Given the description of an element on the screen output the (x, y) to click on. 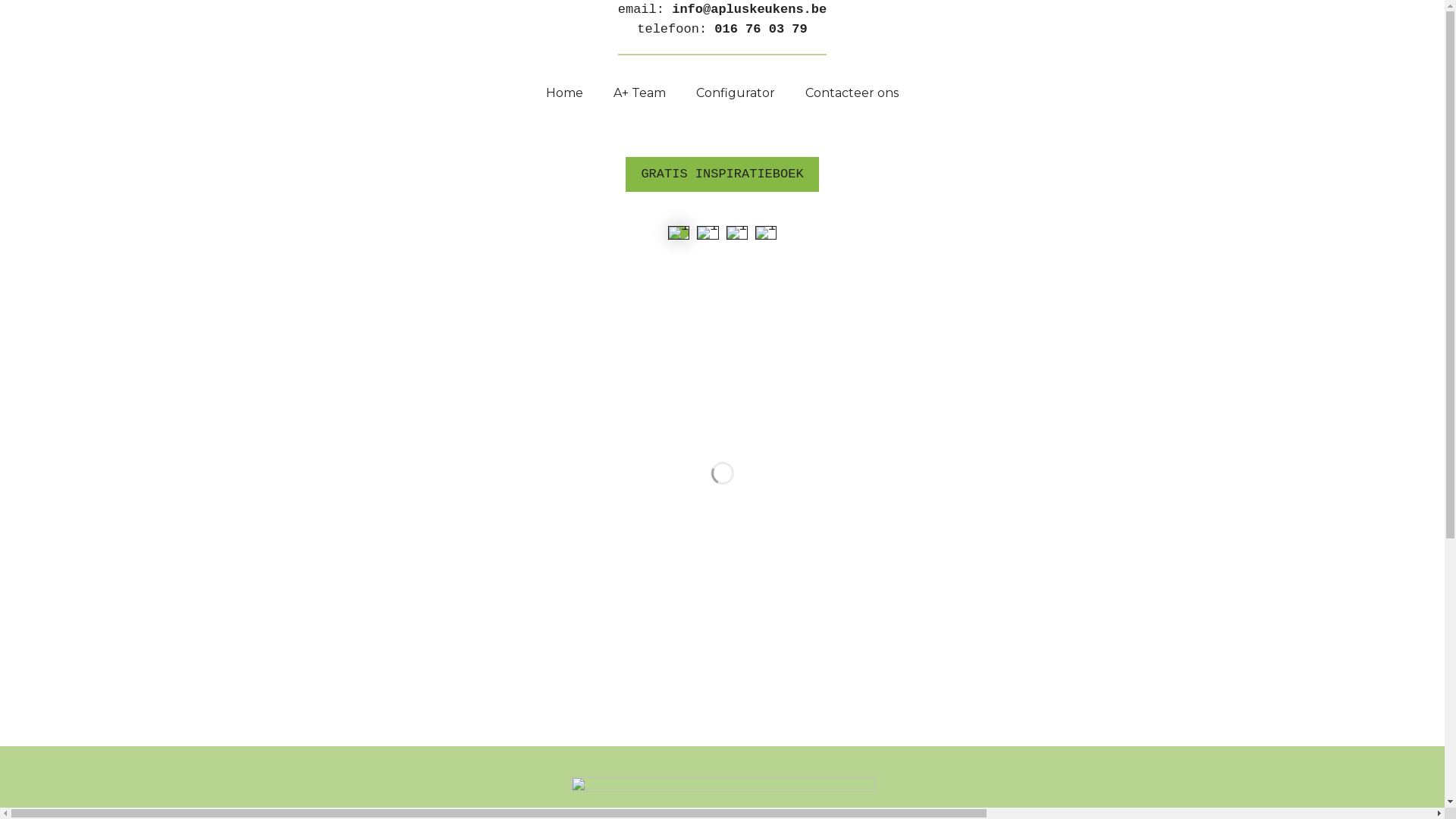
 info@apluskeukens.be Element type: text (745, 9)
A+ Team Element type: text (639, 93)
Configurator Element type: text (735, 93)
Contacteer ons Element type: text (851, 93)
Home Element type: text (564, 93)
016 76 03 79 Element type: text (760, 28)
GRATIS INSPIRATIEBOEK Element type: text (721, 173)
